Given the description of an element on the screen output the (x, y) to click on. 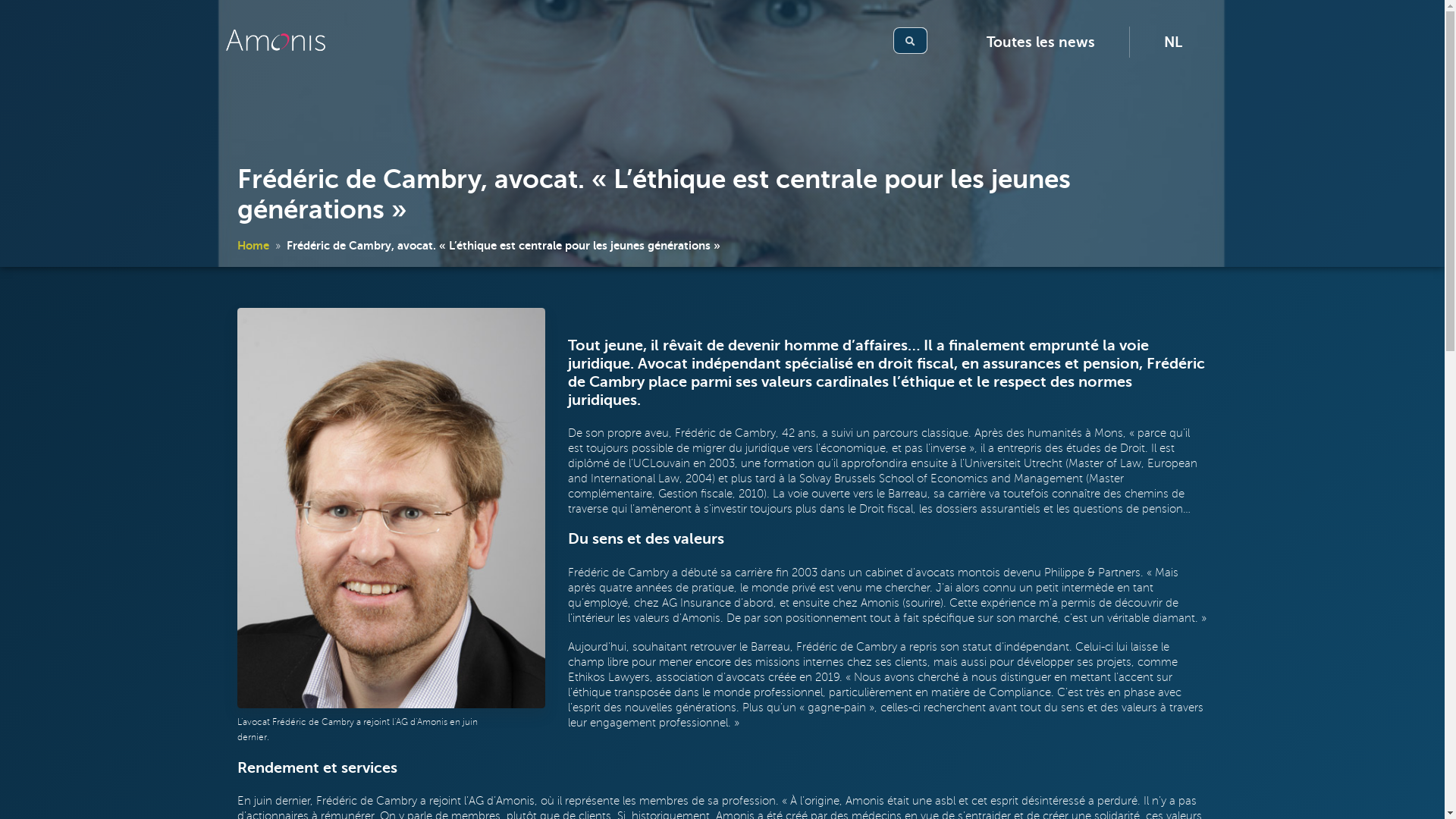
Search for: Element type: hover (916, 40)
NL Element type: text (1173, 41)
Home Element type: text (252, 244)
Toutes les news Element type: text (1040, 41)
Search Element type: text (910, 40)
